Given the description of an element on the screen output the (x, y) to click on. 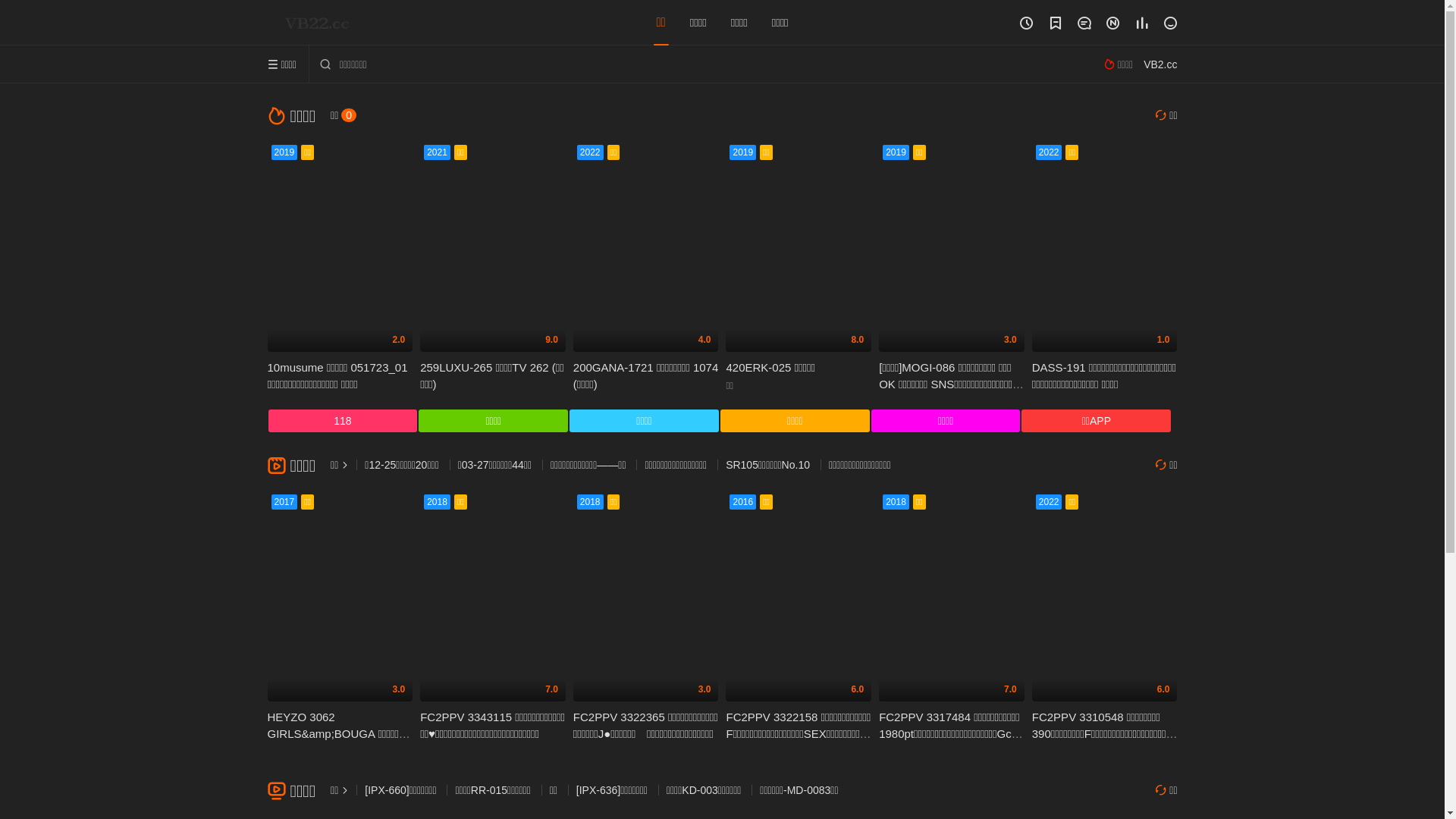
118 Element type: text (342, 420)
VB2.cc Element type: text (1159, 64)
